Given the description of an element on the screen output the (x, y) to click on. 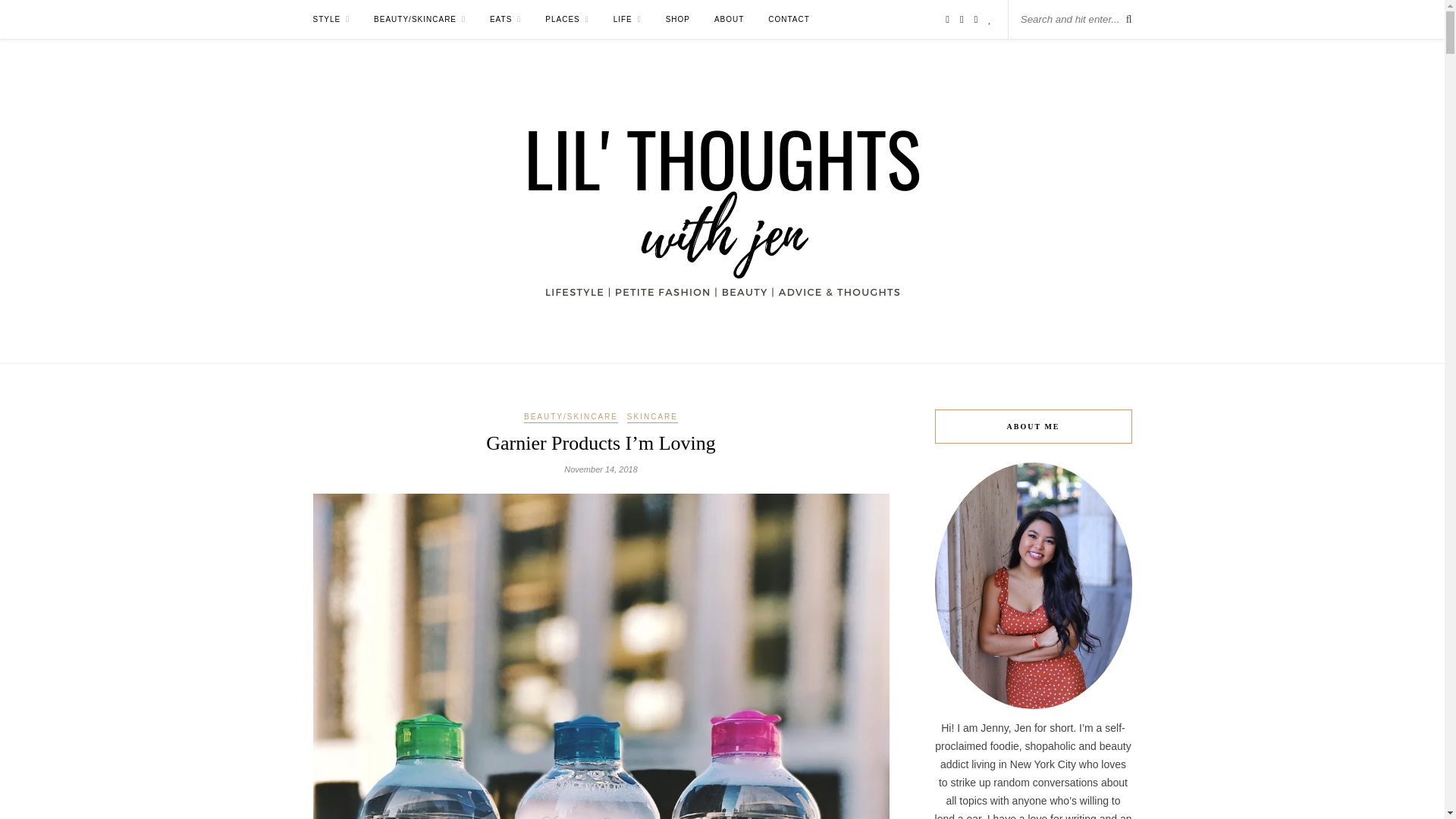
PLACES (566, 19)
CONTACT (788, 19)
View all posts in Skincare (652, 417)
STYLE (331, 19)
